Given the description of an element on the screen output the (x, y) to click on. 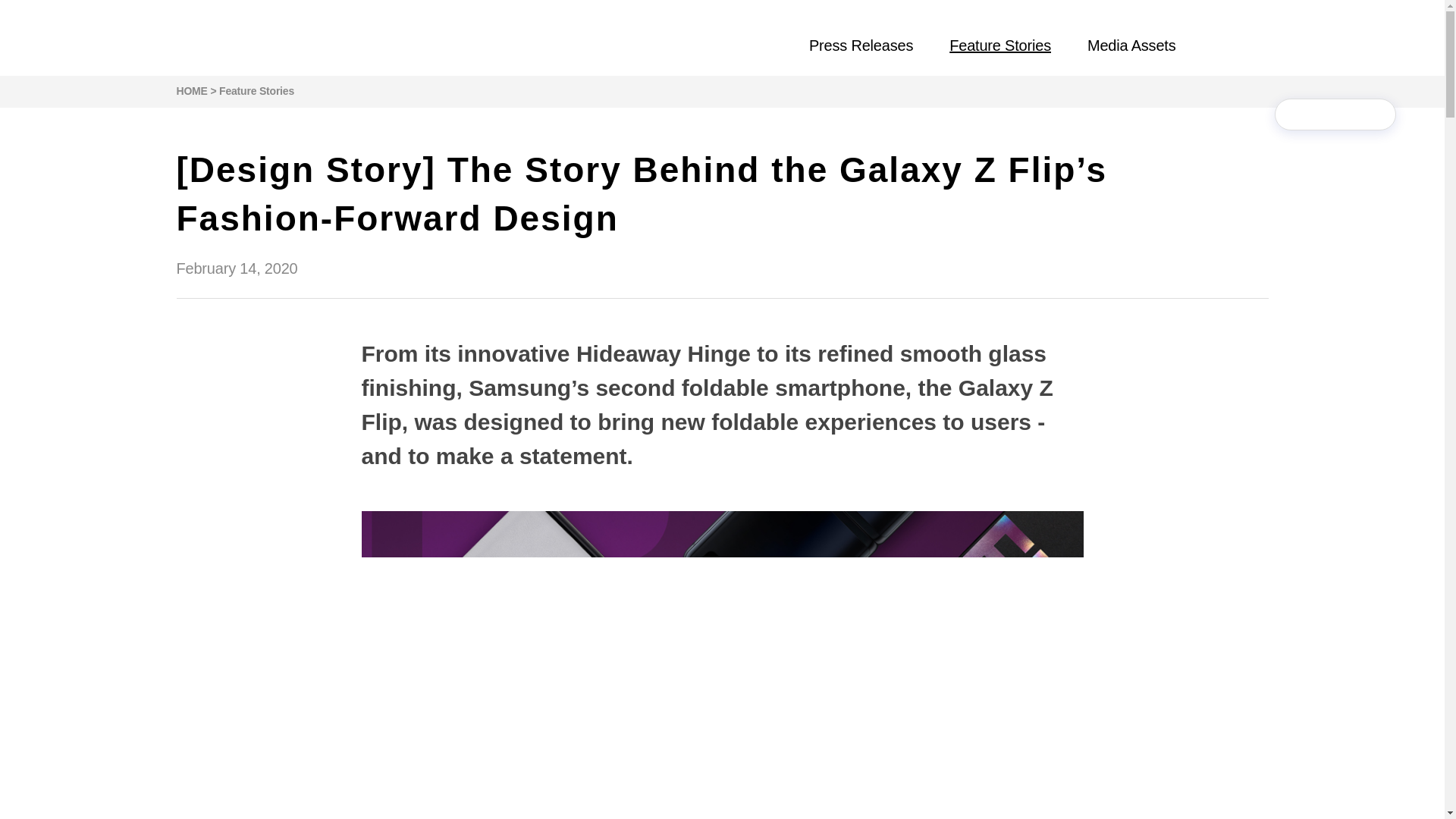
Media Assets (1131, 45)
link copied (1369, 114)
Samsung Mobile Press (230, 37)
HOME (191, 91)
facebook (1300, 114)
Feature Stories (1000, 45)
Feature Stories (256, 91)
twitter (1334, 114)
Press Releases (860, 45)
